Given the description of an element on the screen output the (x, y) to click on. 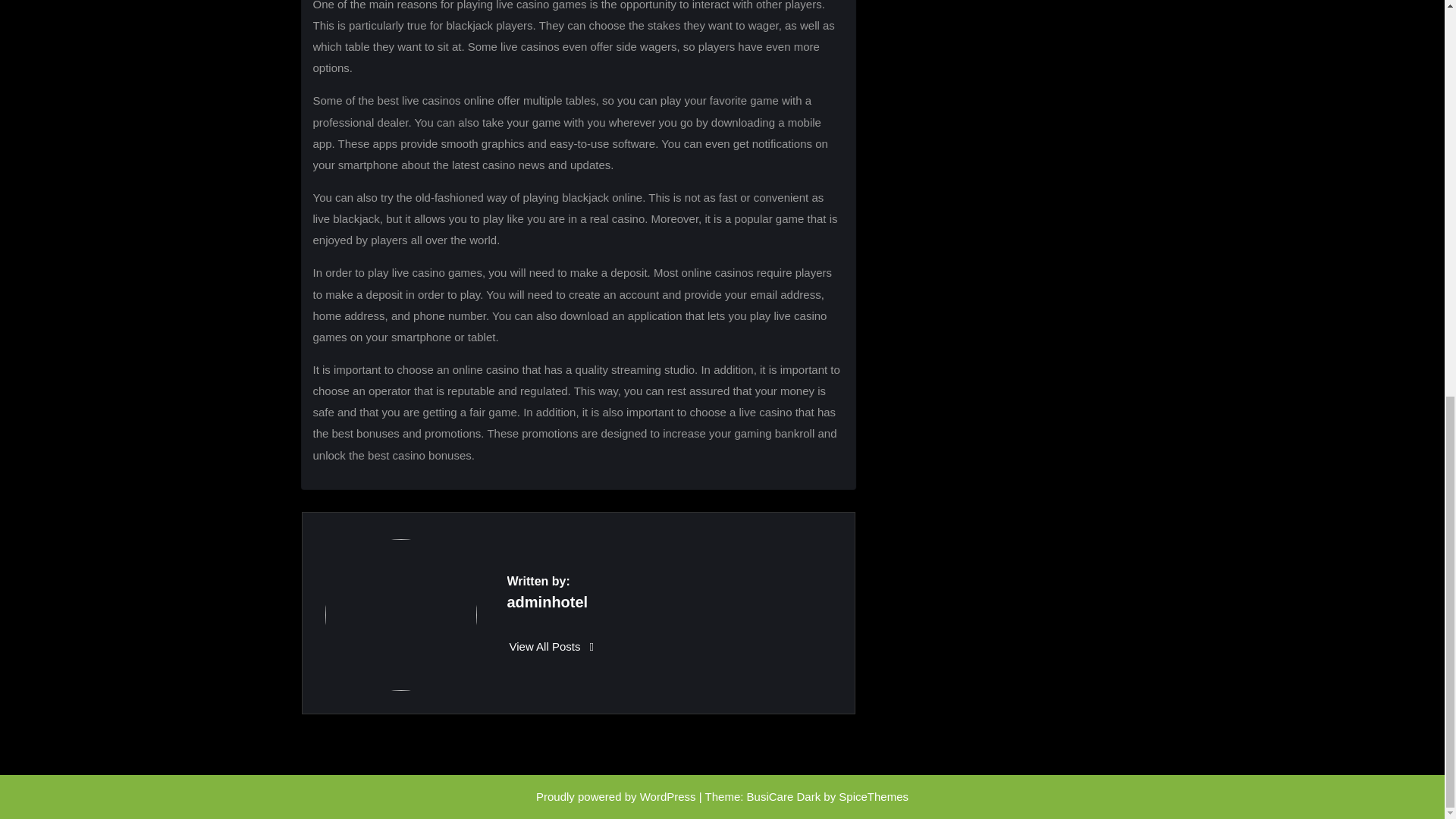
BusiCare Dark (783, 796)
WordPress (667, 796)
View All Posts (551, 645)
SpiceThemes (873, 796)
